Given the description of an element on the screen output the (x, y) to click on. 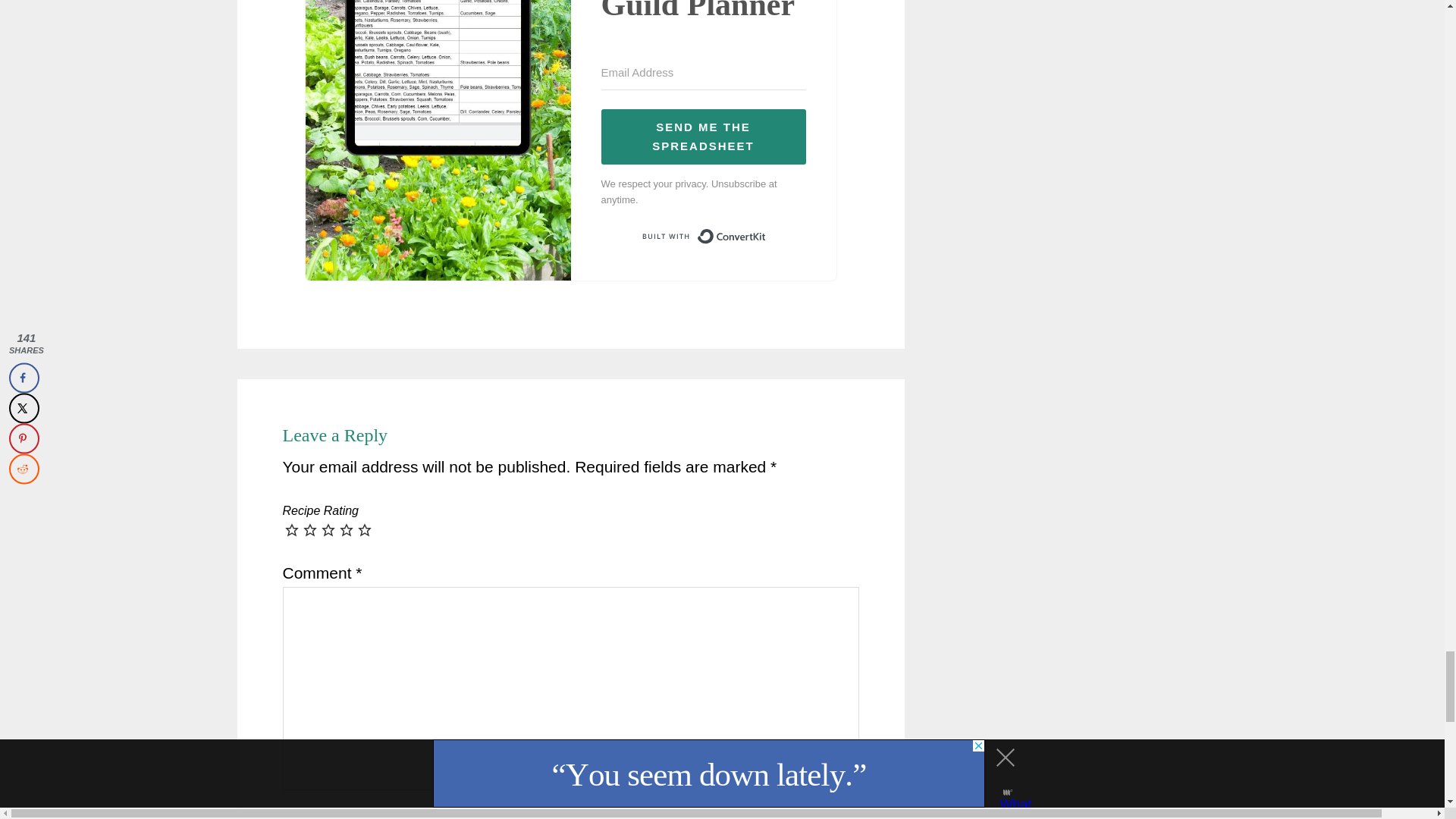
Built with ConvertKit (702, 236)
SEND ME THE SPREADSHEET (702, 136)
